Given the description of an element on the screen output the (x, y) to click on. 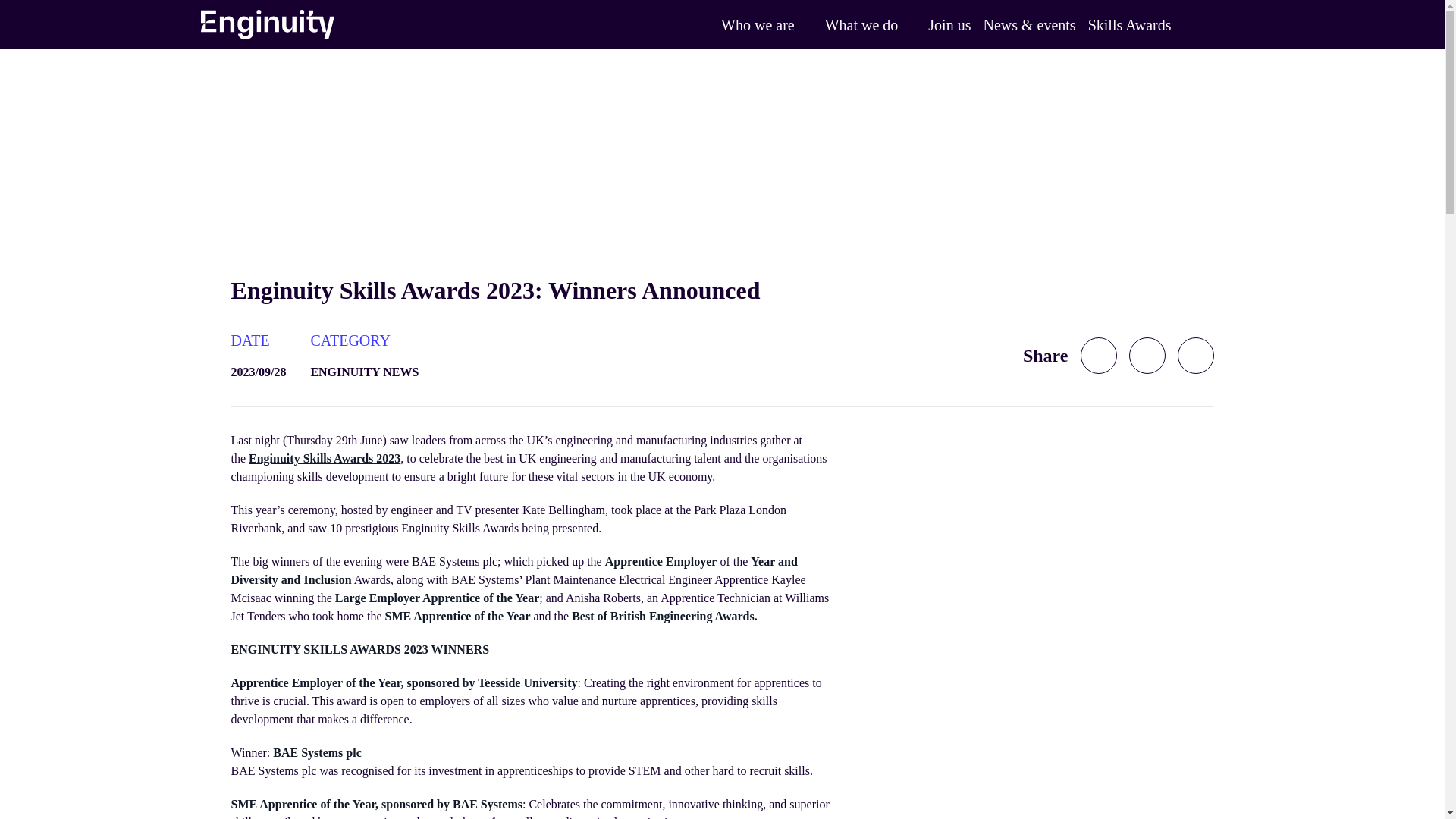
Join us (949, 24)
What we do (861, 24)
Who we are (757, 24)
Skills Awards (1129, 24)
Enginuity Skills Awards 2023 (324, 458)
